Given the description of an element on the screen output the (x, y) to click on. 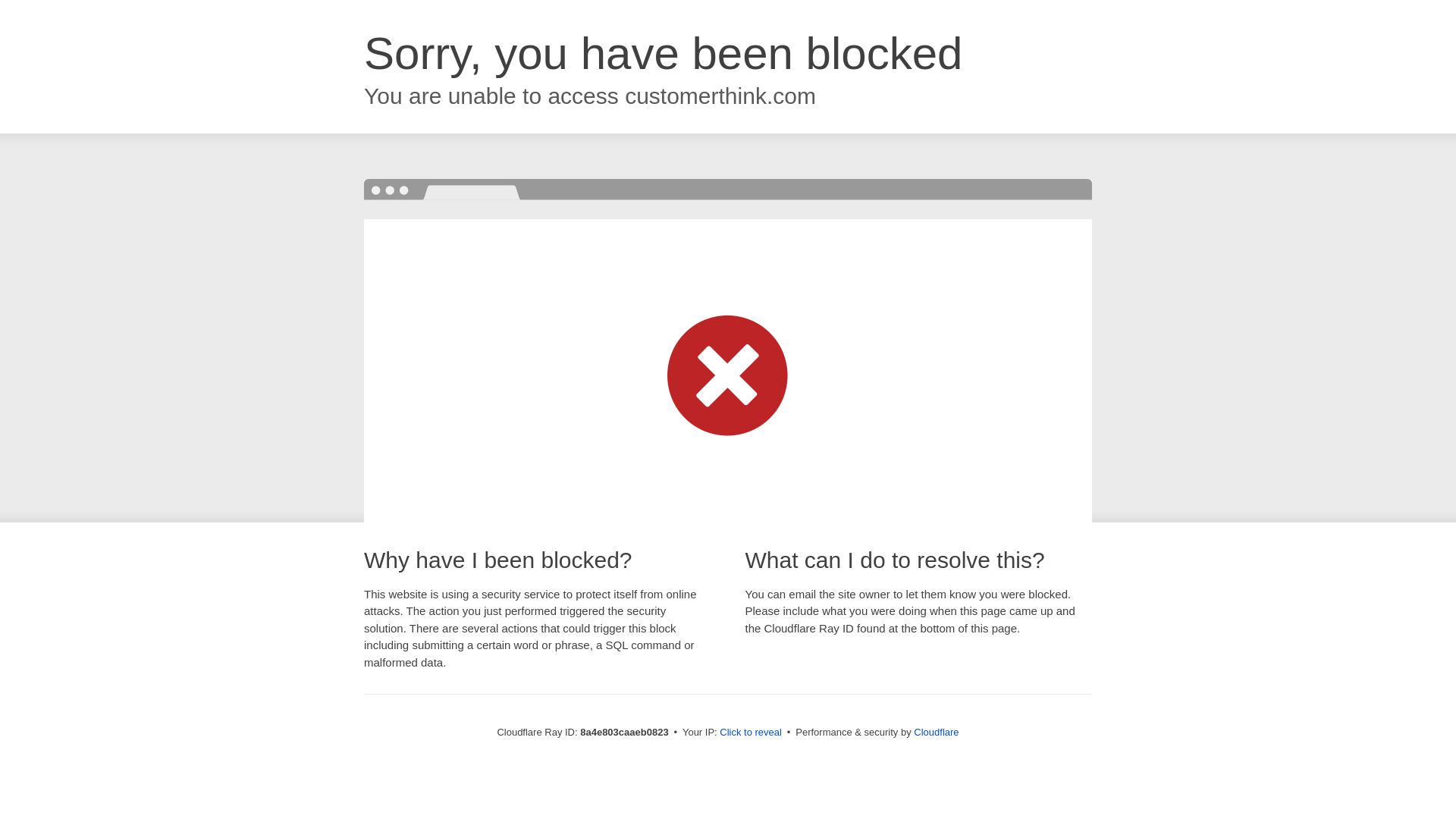
Click to reveal (750, 732)
Cloudflare (936, 731)
